Given the description of an element on the screen output the (x, y) to click on. 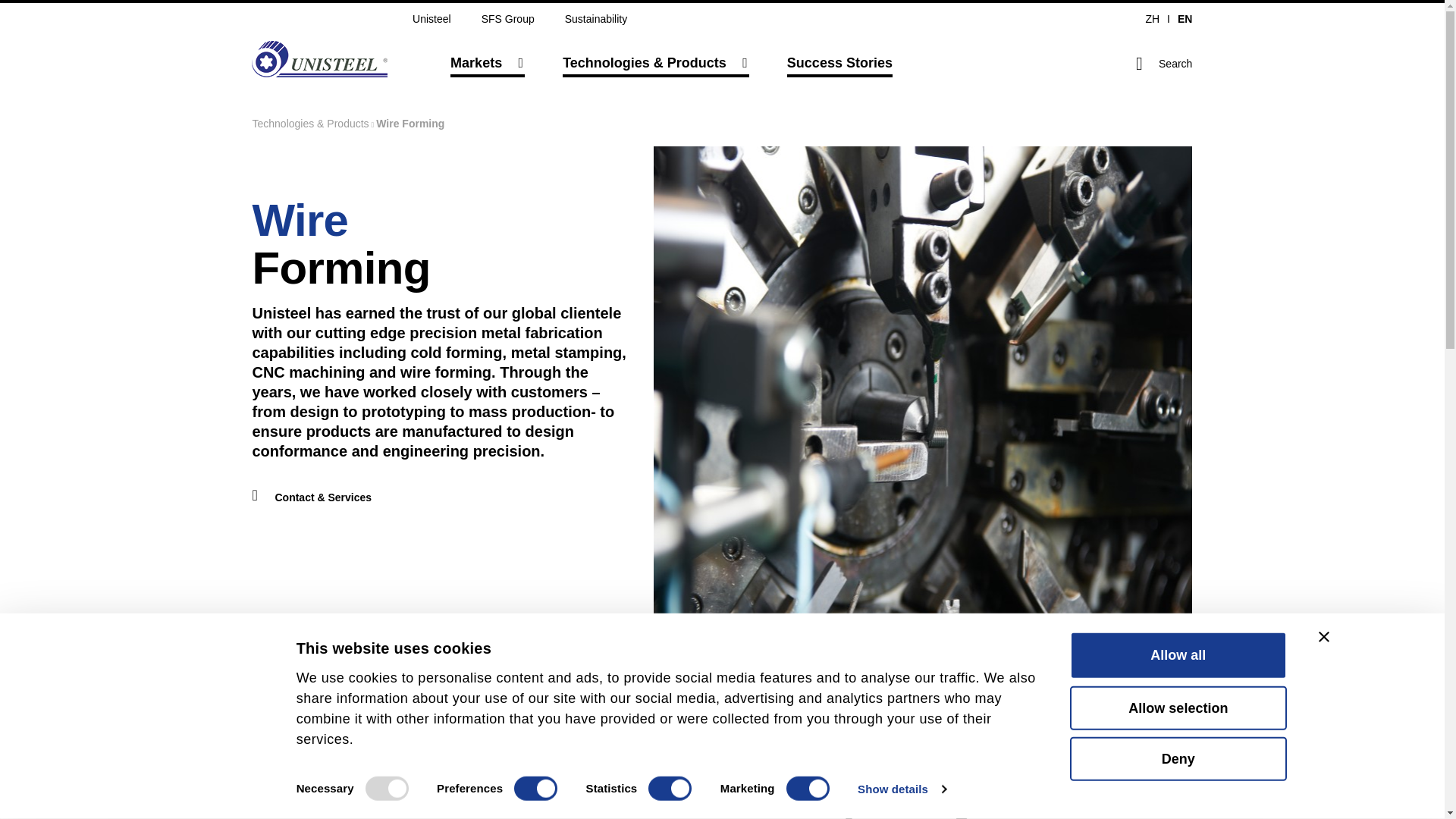
Allow selection (1178, 708)
Deny (1178, 759)
Home (319, 58)
Allow all (1178, 655)
Show details (900, 789)
